Given the description of an element on the screen output the (x, y) to click on. 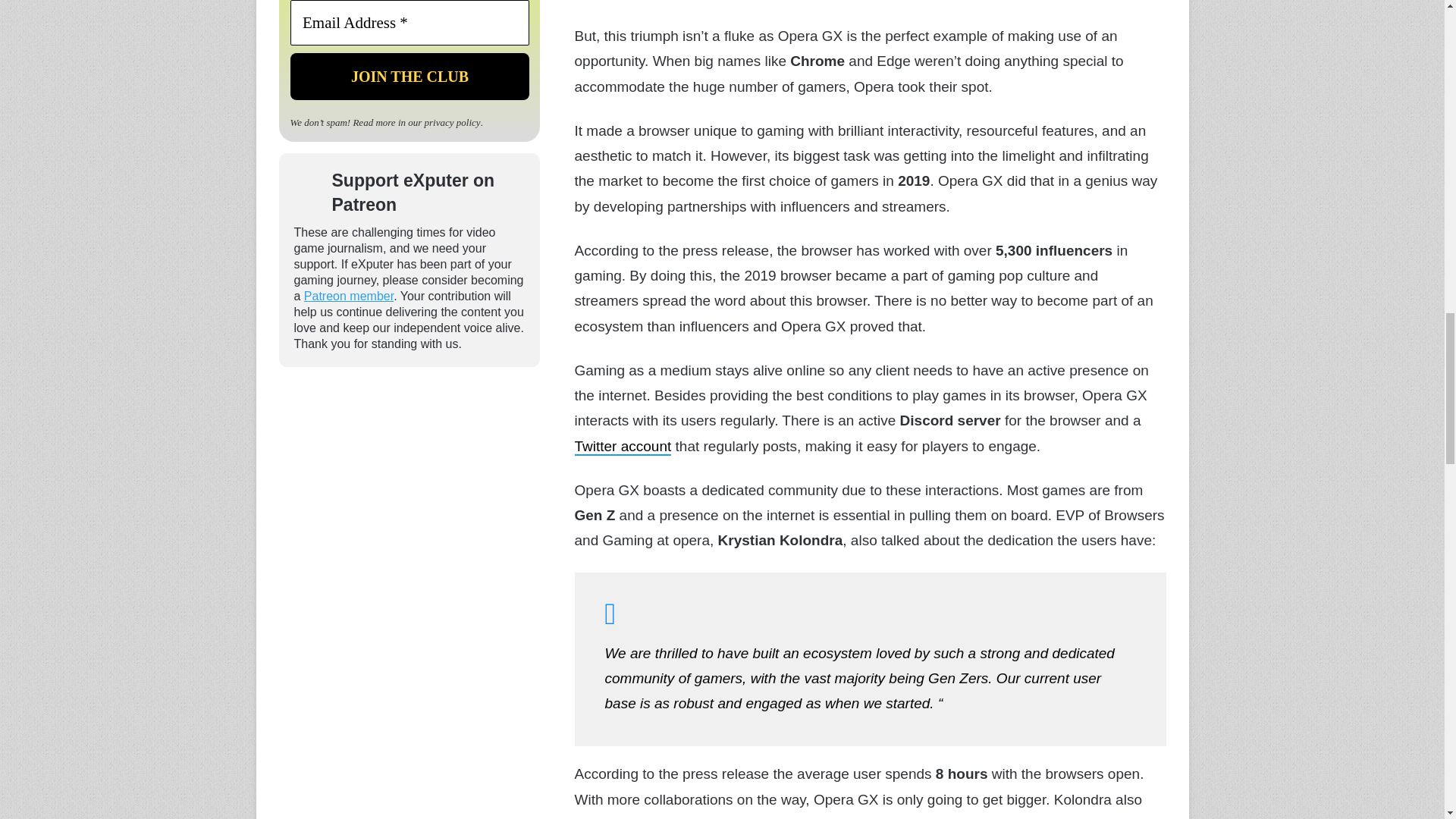
Email Address (408, 22)
JOIN THE  CLUB (408, 76)
